Given the description of an element on the screen output the (x, y) to click on. 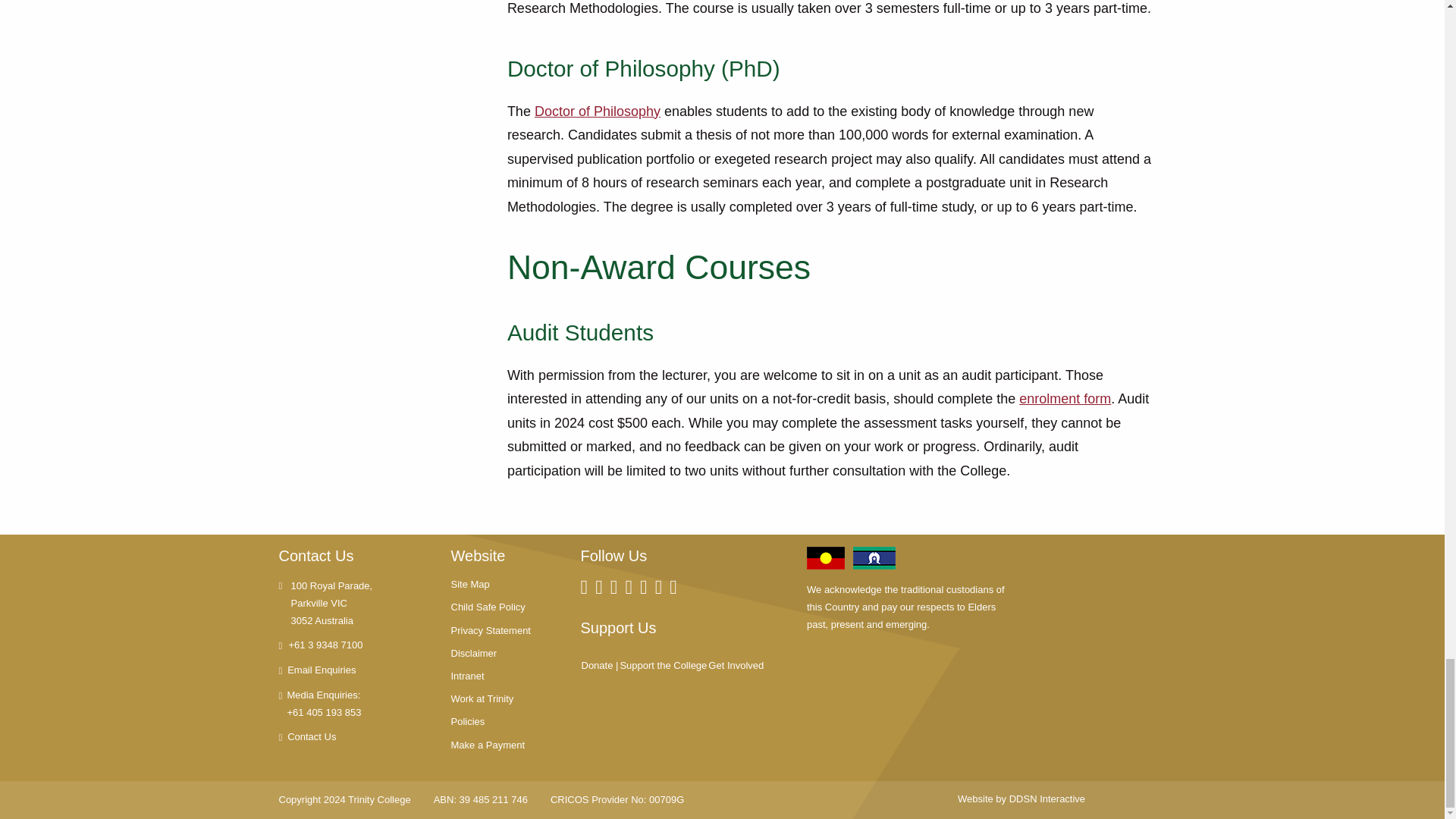
Doctor of Philosophy (597, 112)
